Given the description of an element on the screen output the (x, y) to click on. 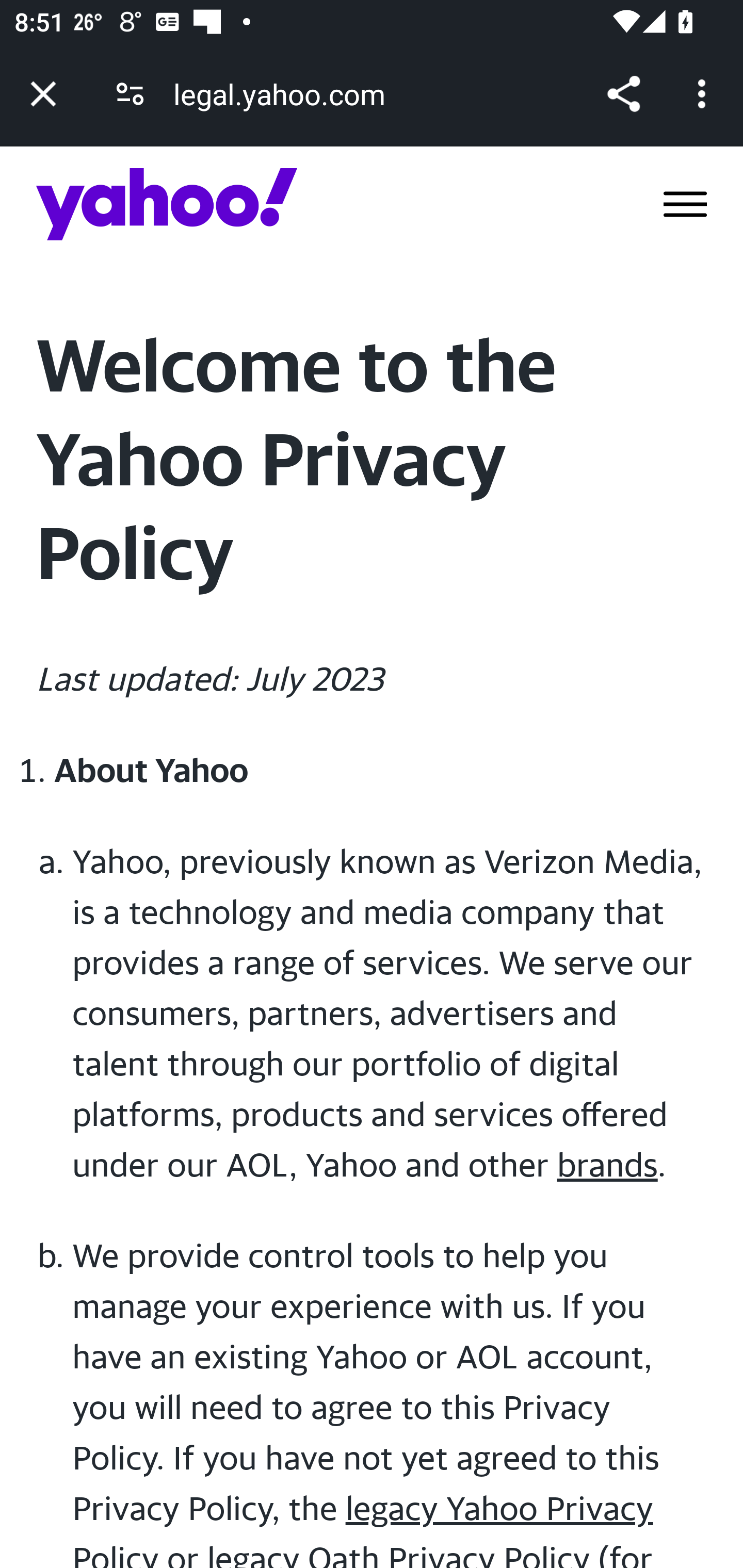
Close tab (43, 93)
Share (623, 93)
Customize and control Google Chrome (705, 93)
Connection is secure (129, 93)
legal.yahoo.com (286, 93)
Yahoo logo (166, 203)
brands (607, 1163)
legacy Yahoo Privacy Policy (362, 1528)
